Given the description of an element on the screen output the (x, y) to click on. 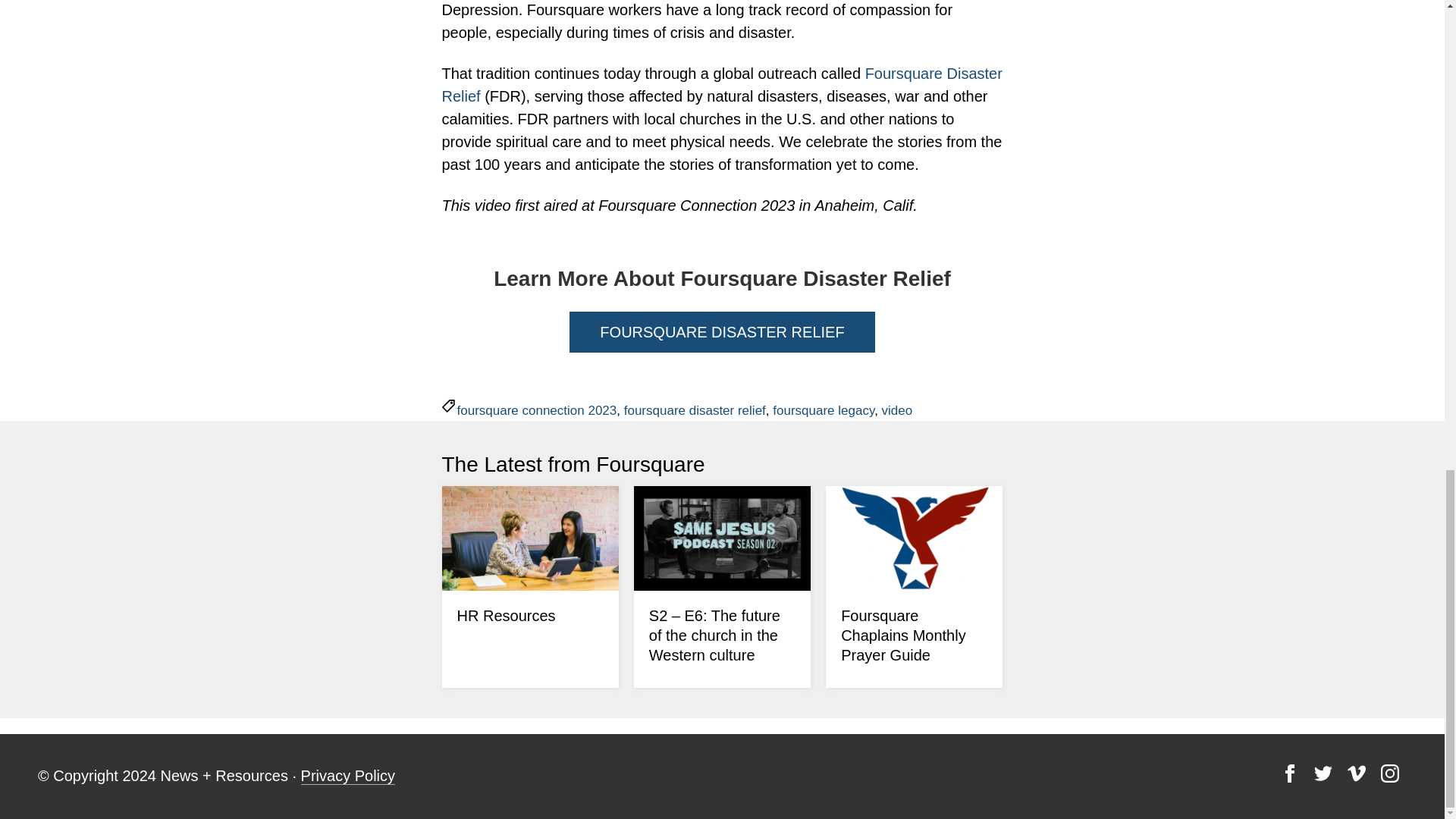
Privacy Policy (347, 775)
foursquare connection 2023 (536, 410)
Foursquare Disaster Relief (721, 84)
FOURSQUARE DISASTER RELIEF (722, 332)
HR Resources (505, 615)
video (897, 410)
Foursquare Chaplains Monthly Prayer Guide (903, 635)
foursquare legacy (824, 410)
foursquare disaster relief (694, 410)
